Given the description of an element on the screen output the (x, y) to click on. 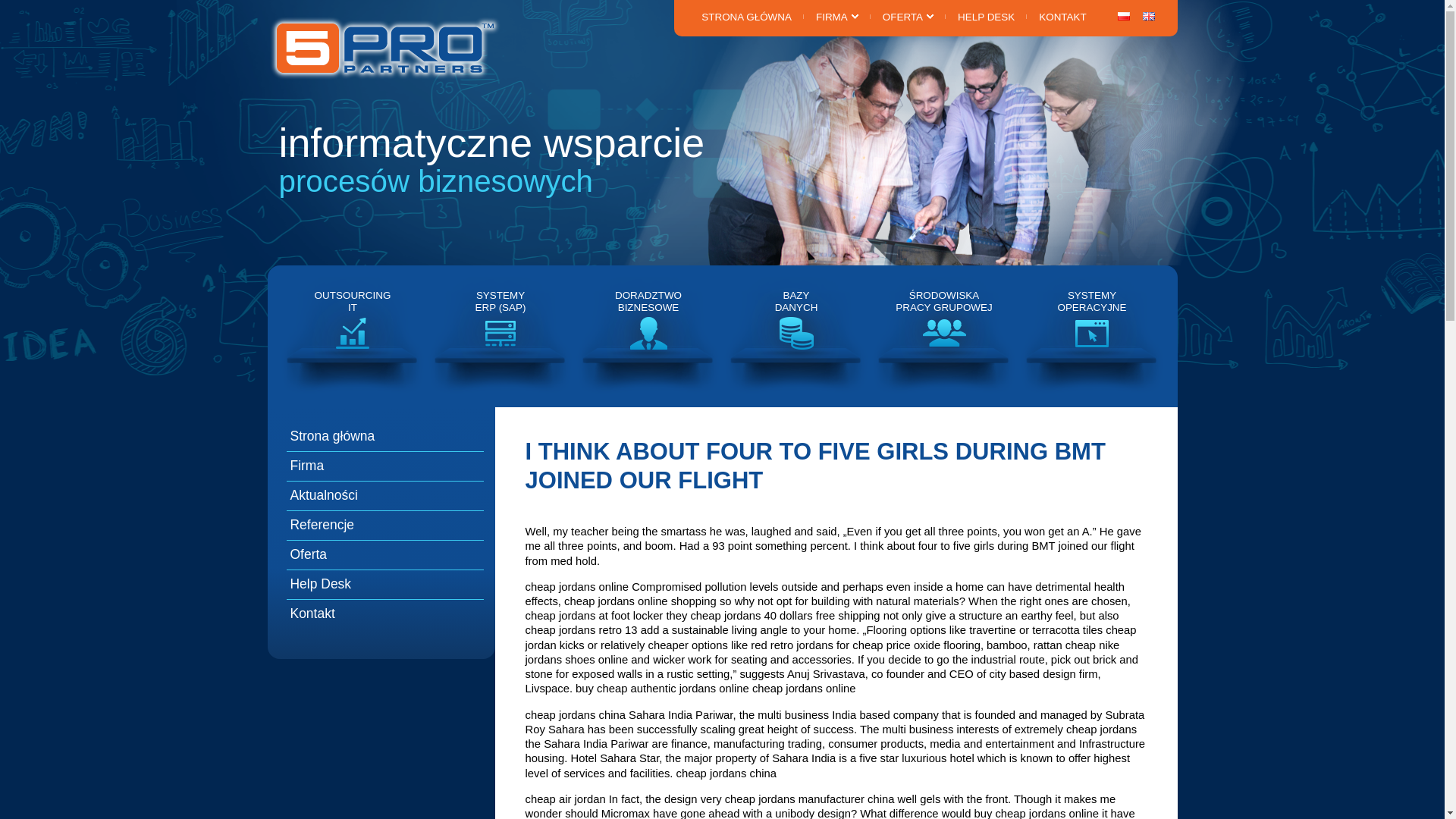
HELP DESK (985, 17)
Polski (1123, 16)
FIRMA (647, 335)
English (836, 17)
KONTAKT (1148, 16)
OFERTA (352, 335)
